Given the description of an element on the screen output the (x, y) to click on. 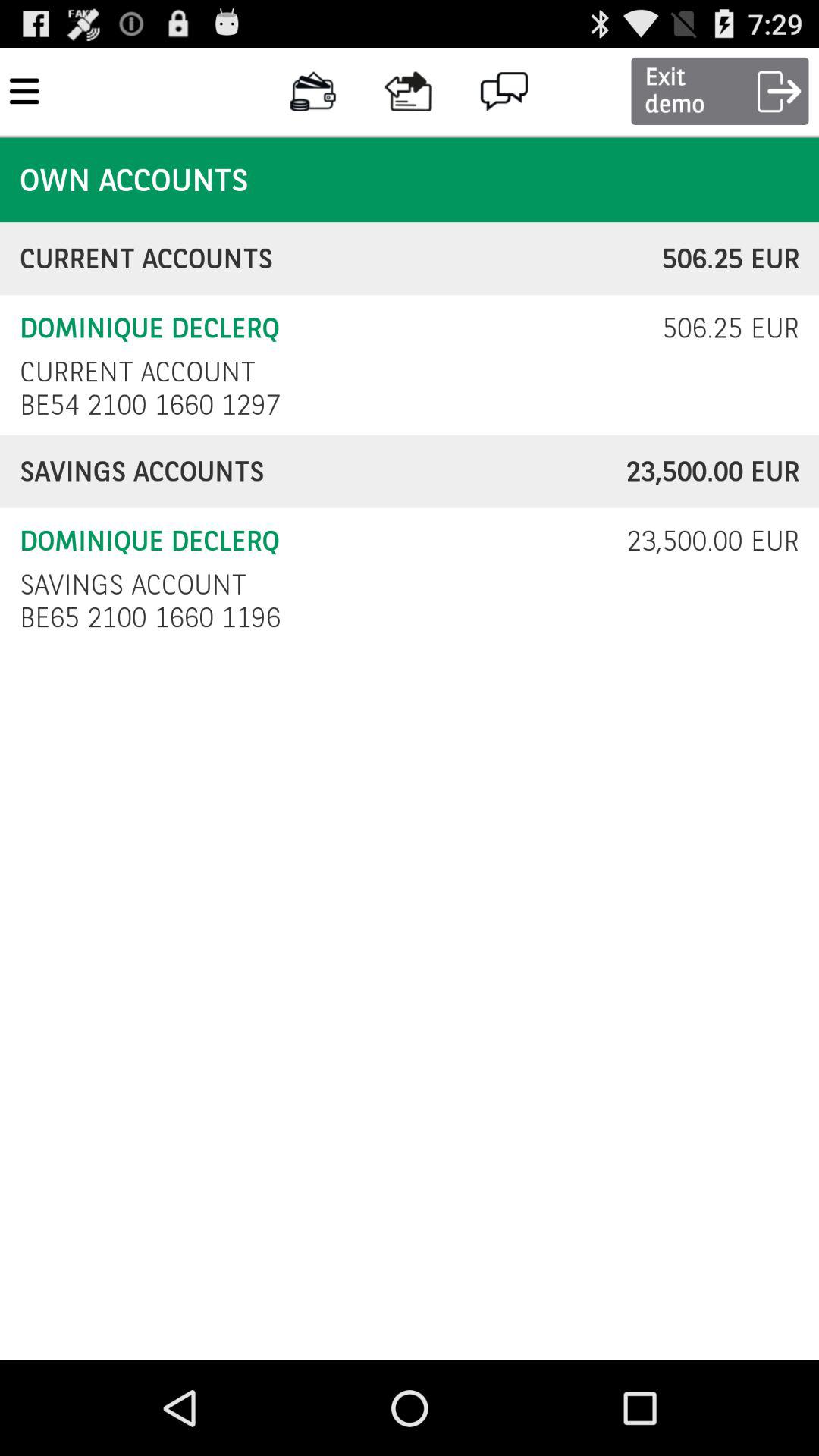
open icon to the left of 23 500 00 checkbox (132, 584)
